Given the description of an element on the screen output the (x, y) to click on. 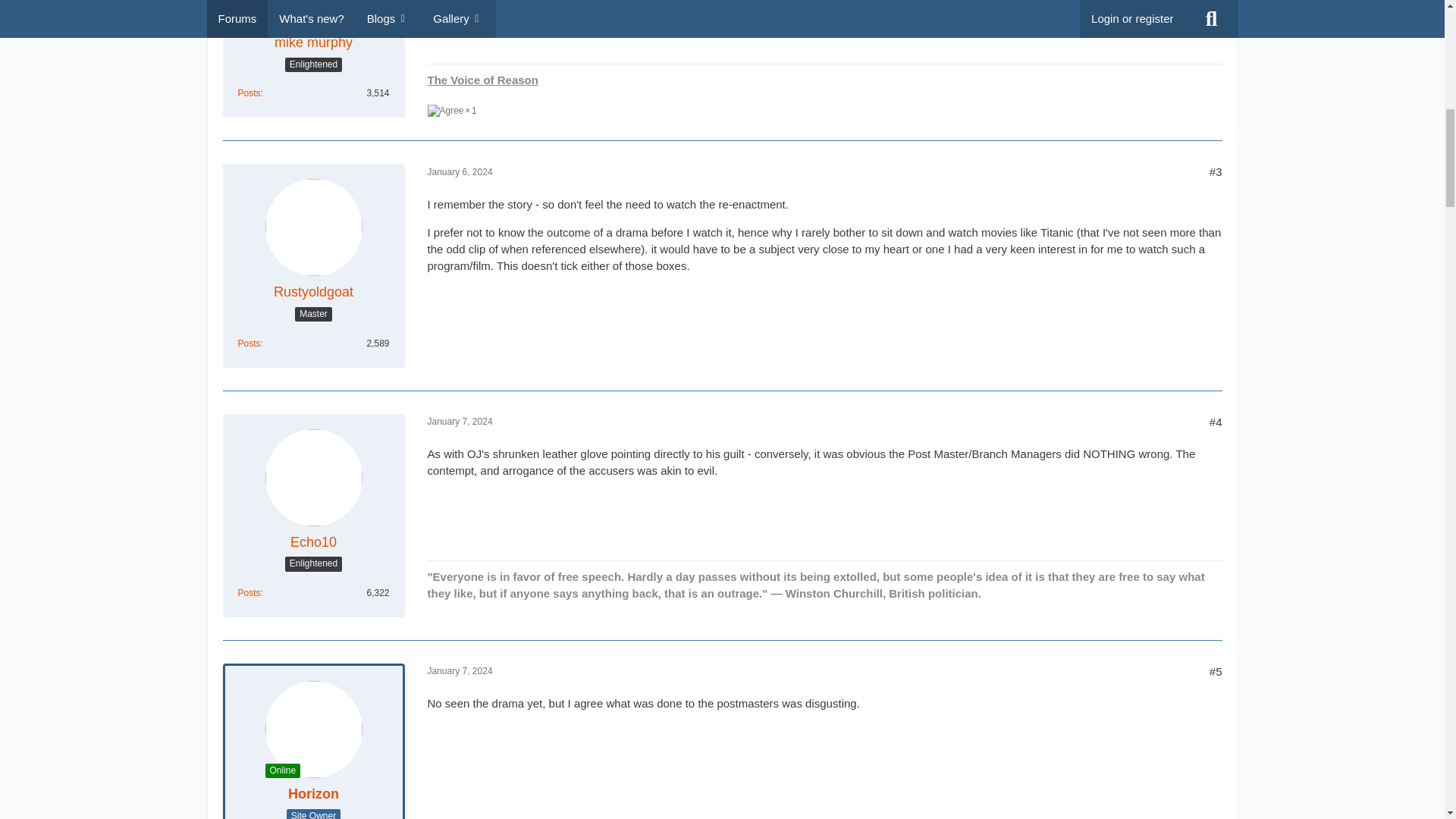
Horizon is online (282, 770)
mike murphy (313, 42)
Posts (249, 92)
